Given the description of an element on the screen output the (x, y) to click on. 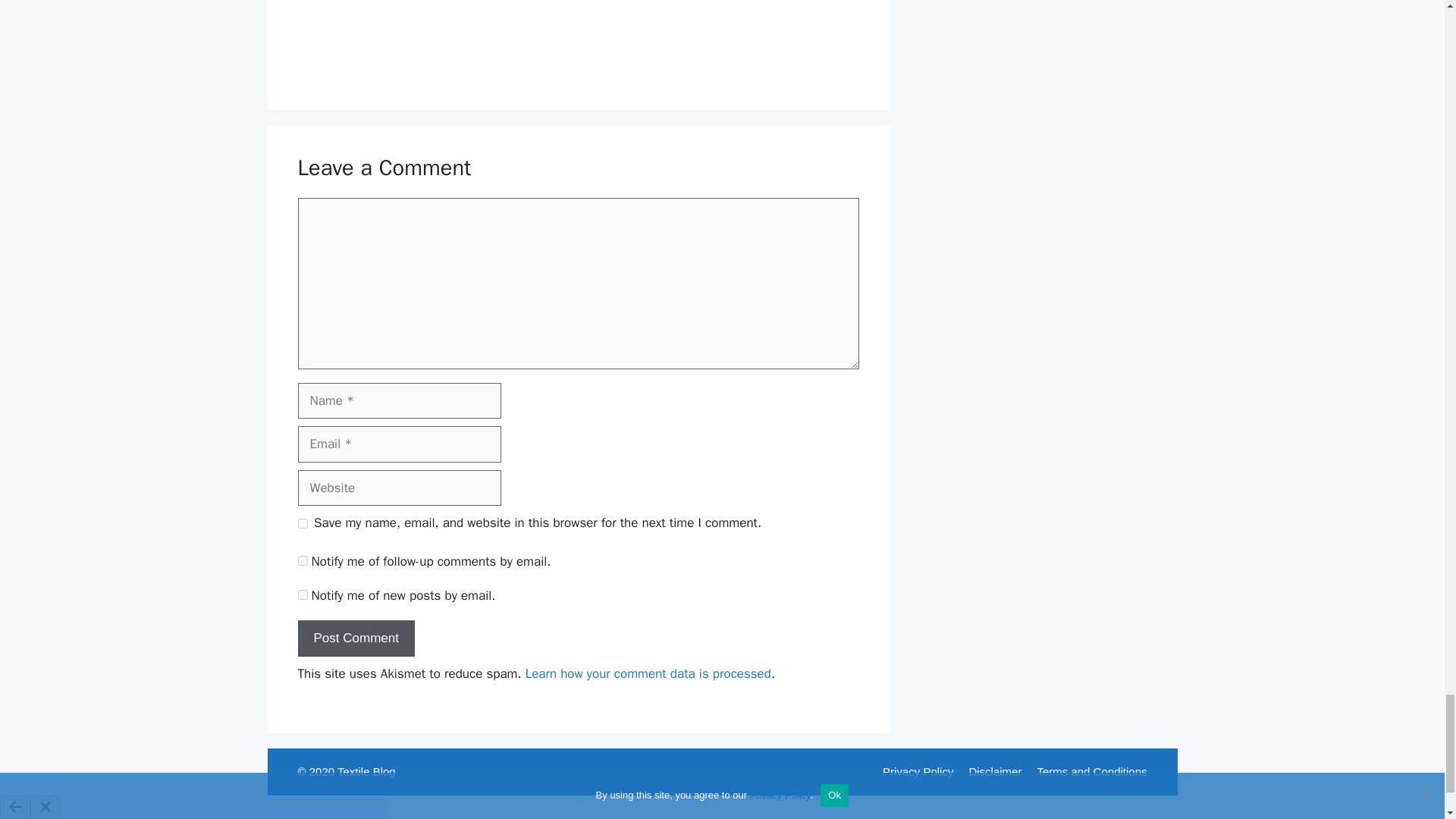
subscribe (302, 594)
subscribe (302, 560)
Post Comment (355, 637)
Post Comment (355, 637)
Learn how your comment data is processed (648, 673)
yes (302, 523)
